Given the description of an element on the screen output the (x, y) to click on. 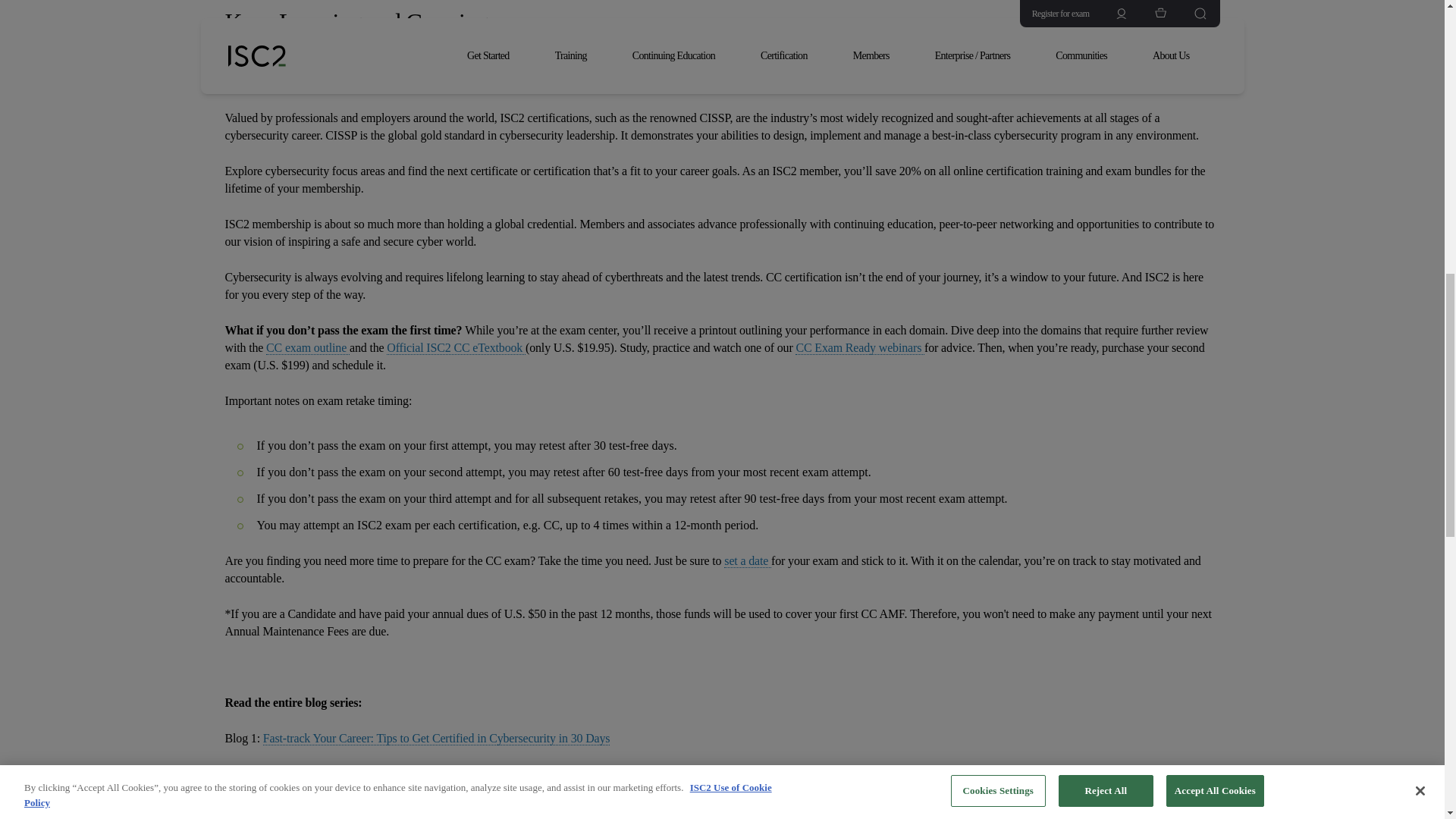
Official ISC2 CC eTextbook (456, 347)
CC in 30 Days Challenge: Start Your Free Training (384, 774)
Certifications. (772, 82)
CC Exam Ready webinars (859, 347)
set a date (747, 561)
CC exam outline (307, 347)
Certificates (690, 82)
